Given the description of an element on the screen output the (x, y) to click on. 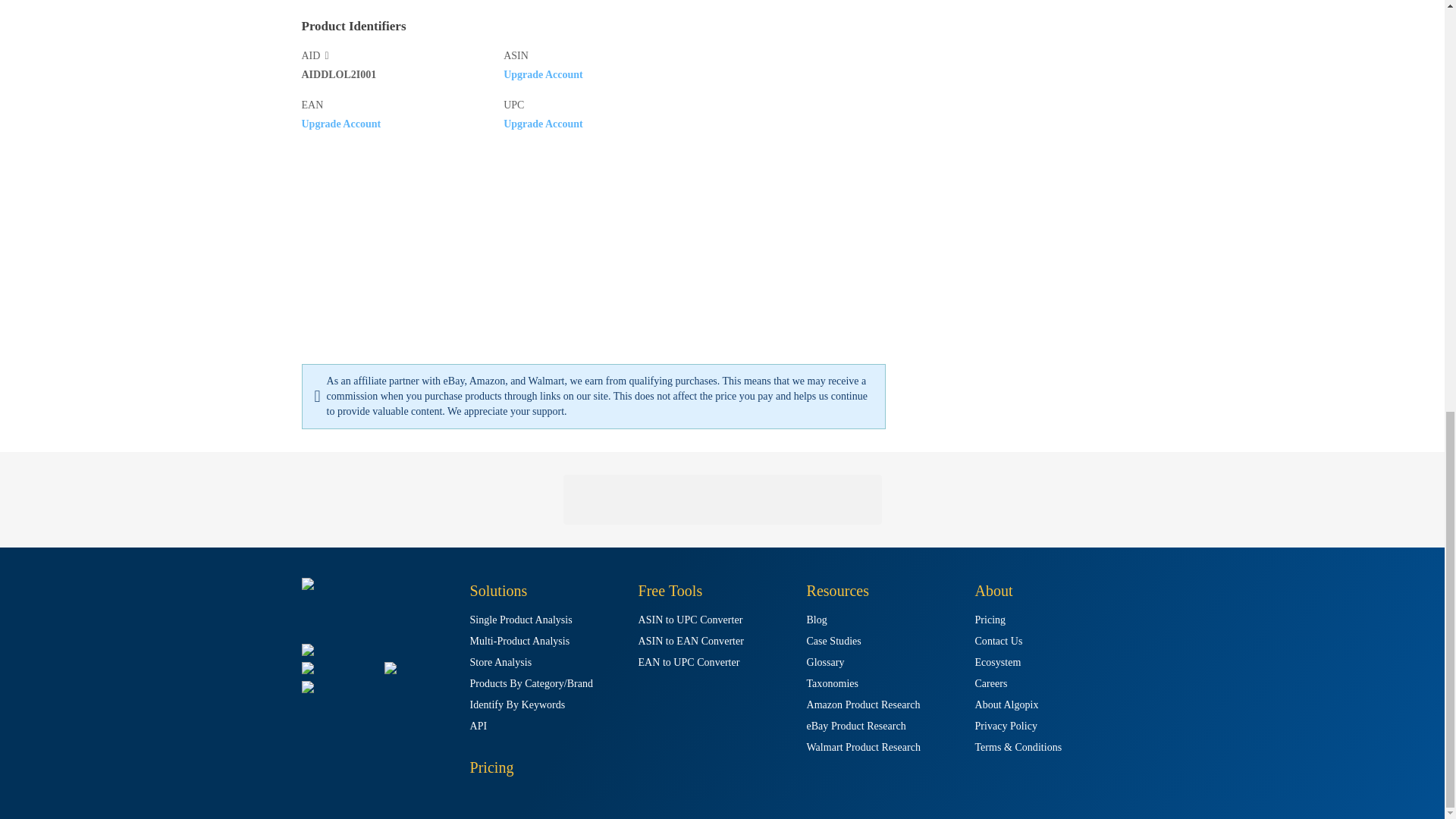
Upgrade Account (543, 122)
API (478, 726)
ASIN to UPC Converter (690, 619)
Store Analysis (501, 662)
Upgrade Account (341, 122)
Upgrade Account (543, 74)
Multi-Product Analysis (520, 641)
Single Product Analysis (521, 619)
Identify By Keywords (518, 704)
Pricing (491, 767)
